Given the description of an element on the screen output the (x, y) to click on. 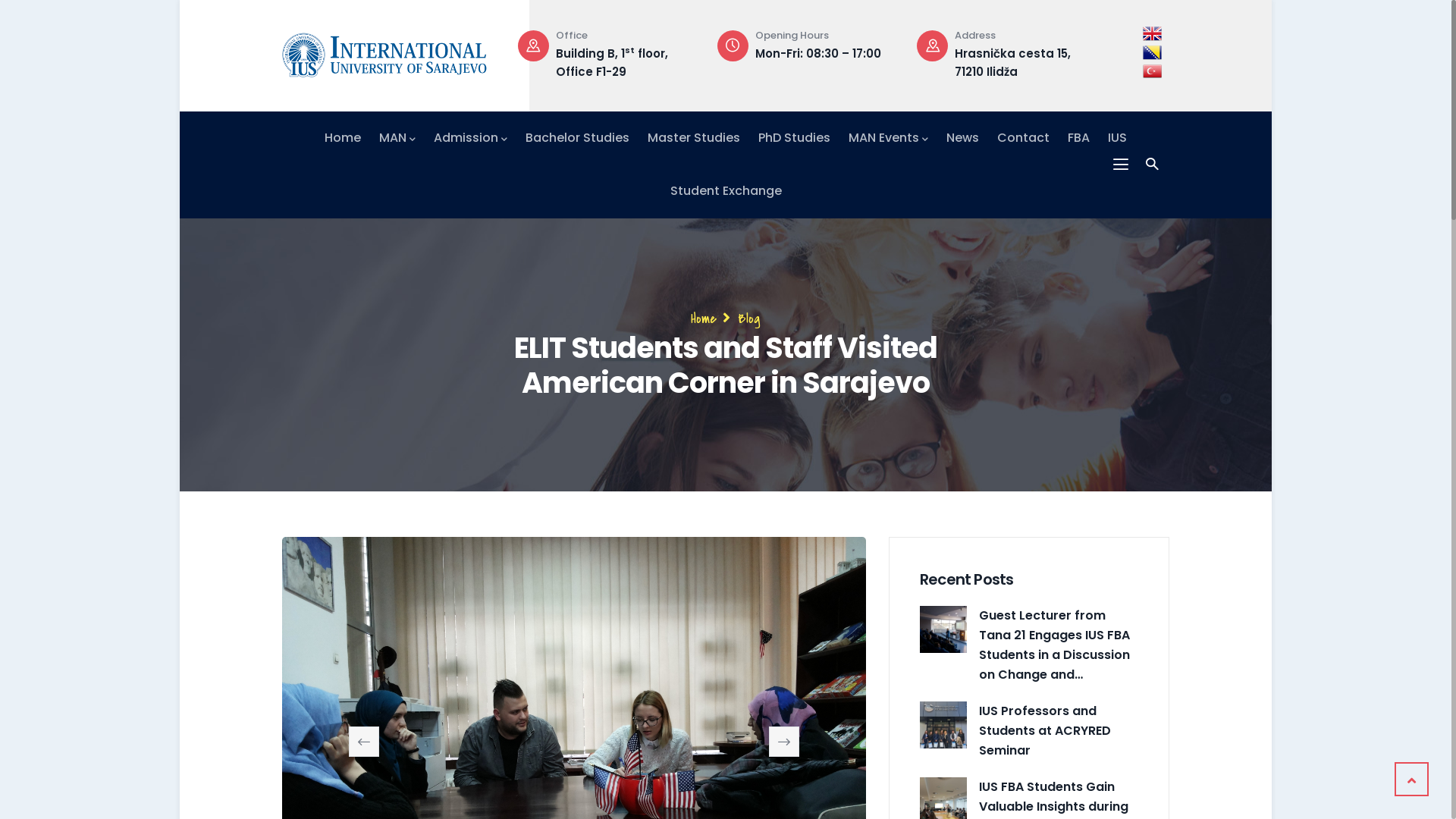
IUS Professors and Students at ACRYRED Seminar Element type: hover (942, 724)
MAN Events Element type: text (888, 137)
Home Element type: text (703, 318)
admission@ius.edu.ba Element type: text (464, 53)
Home Element type: hover (384, 51)
News Element type: text (962, 137)
FBA Element type: text (1078, 137)
+387 33 957 400 Element type: text (636, 53)
Engleski Element type: hover (1151, 33)
Bosnian Element type: hover (1151, 52)
Home Element type: text (342, 137)
Turkish Element type: hover (1151, 71)
Admission Element type: text (470, 137)
Student Exchange Element type: text (725, 190)
Contact Element type: text (1023, 137)
IUS Professors and Students at ACRYRED Seminar Element type: text (1058, 730)
MAN Element type: text (397, 137)
Skip to main content Element type: text (179, 0)
Bachelor Studies Element type: text (577, 137)
PhD Studies Element type: text (794, 137)
IUS Element type: text (1116, 137)
Master Studies Element type: text (693, 137)
